Given the description of an element on the screen output the (x, y) to click on. 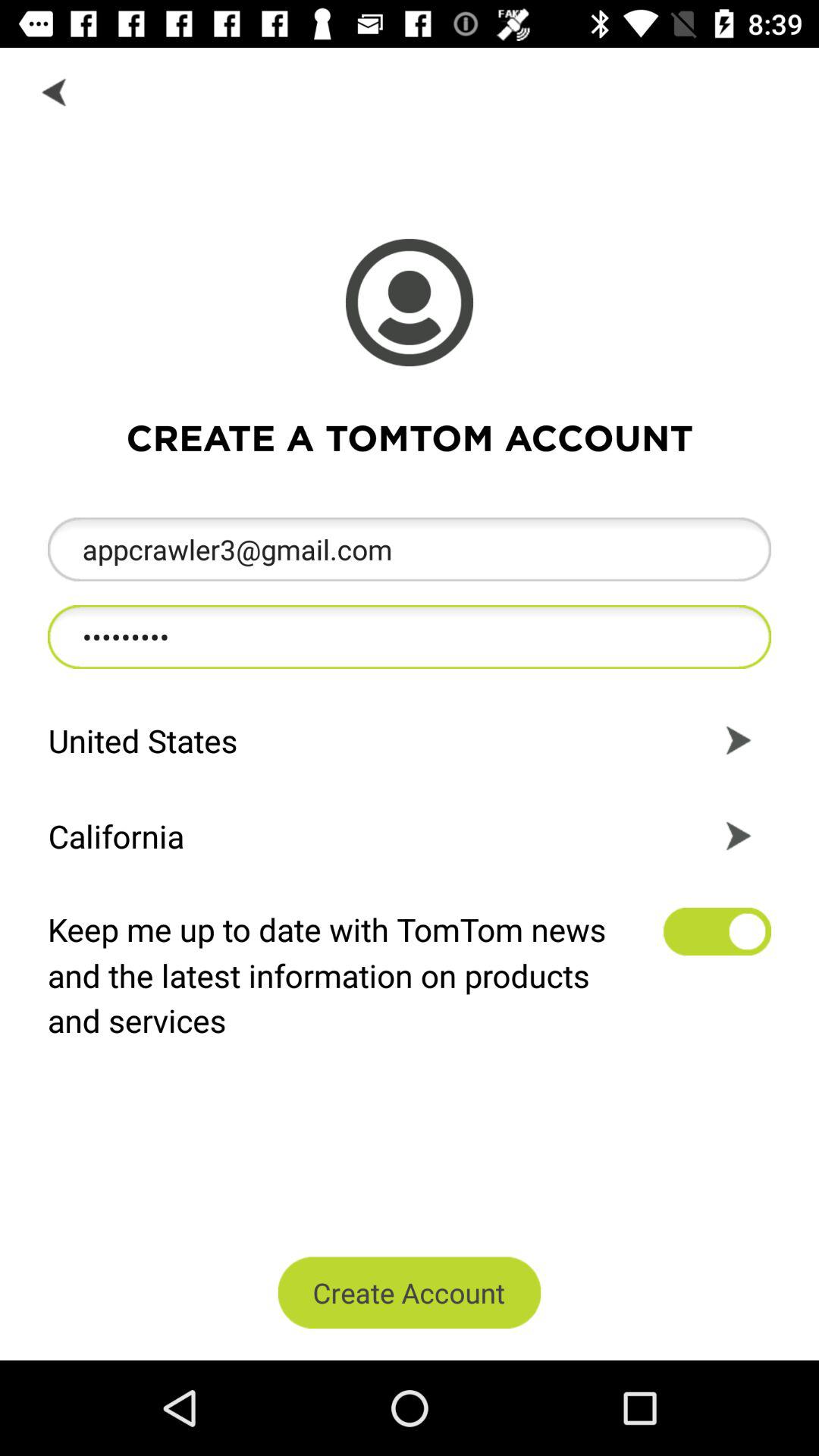
go back (55, 91)
